Given the description of an element on the screen output the (x, y) to click on. 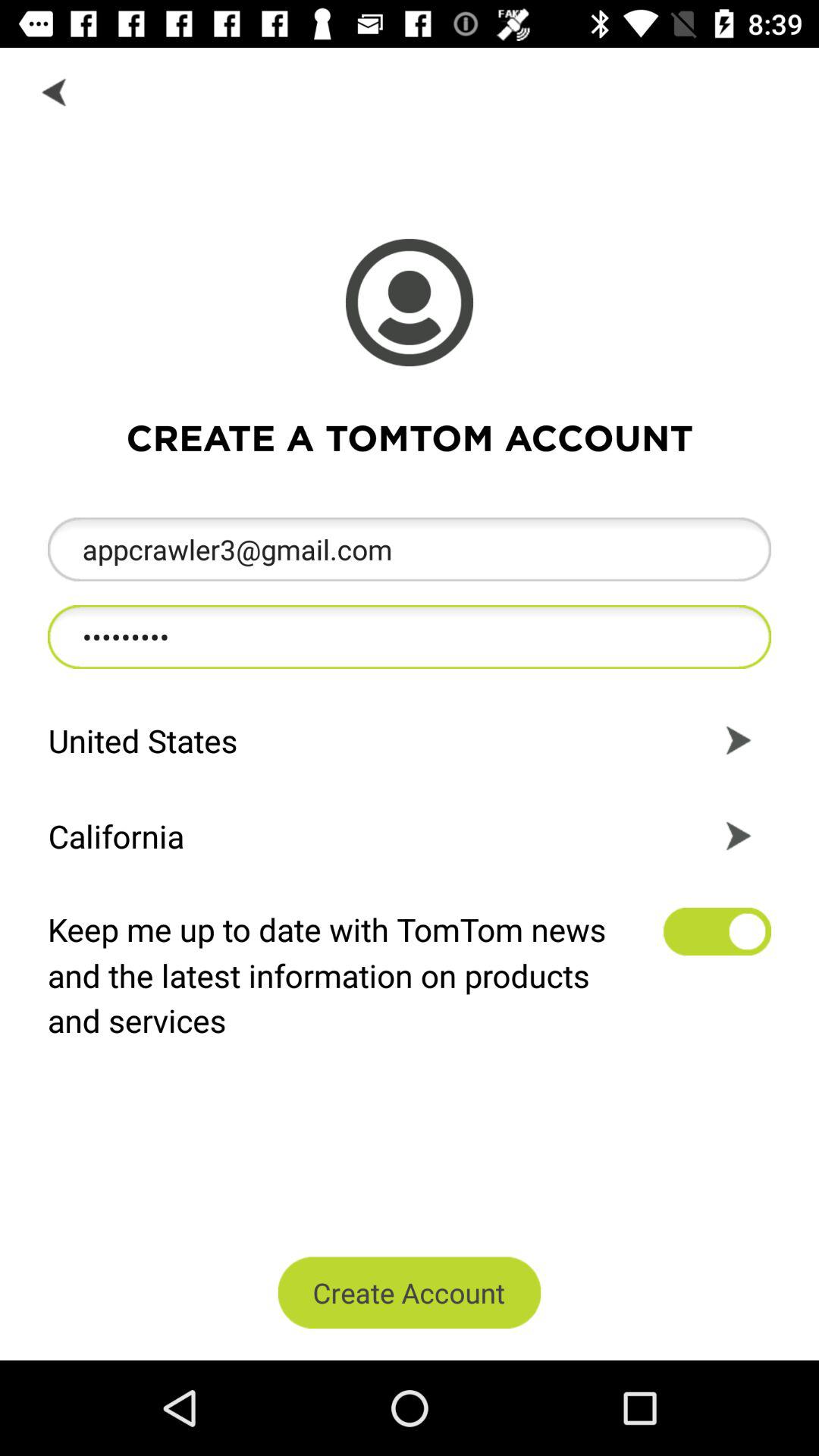
go back (55, 91)
